Given the description of an element on the screen output the (x, y) to click on. 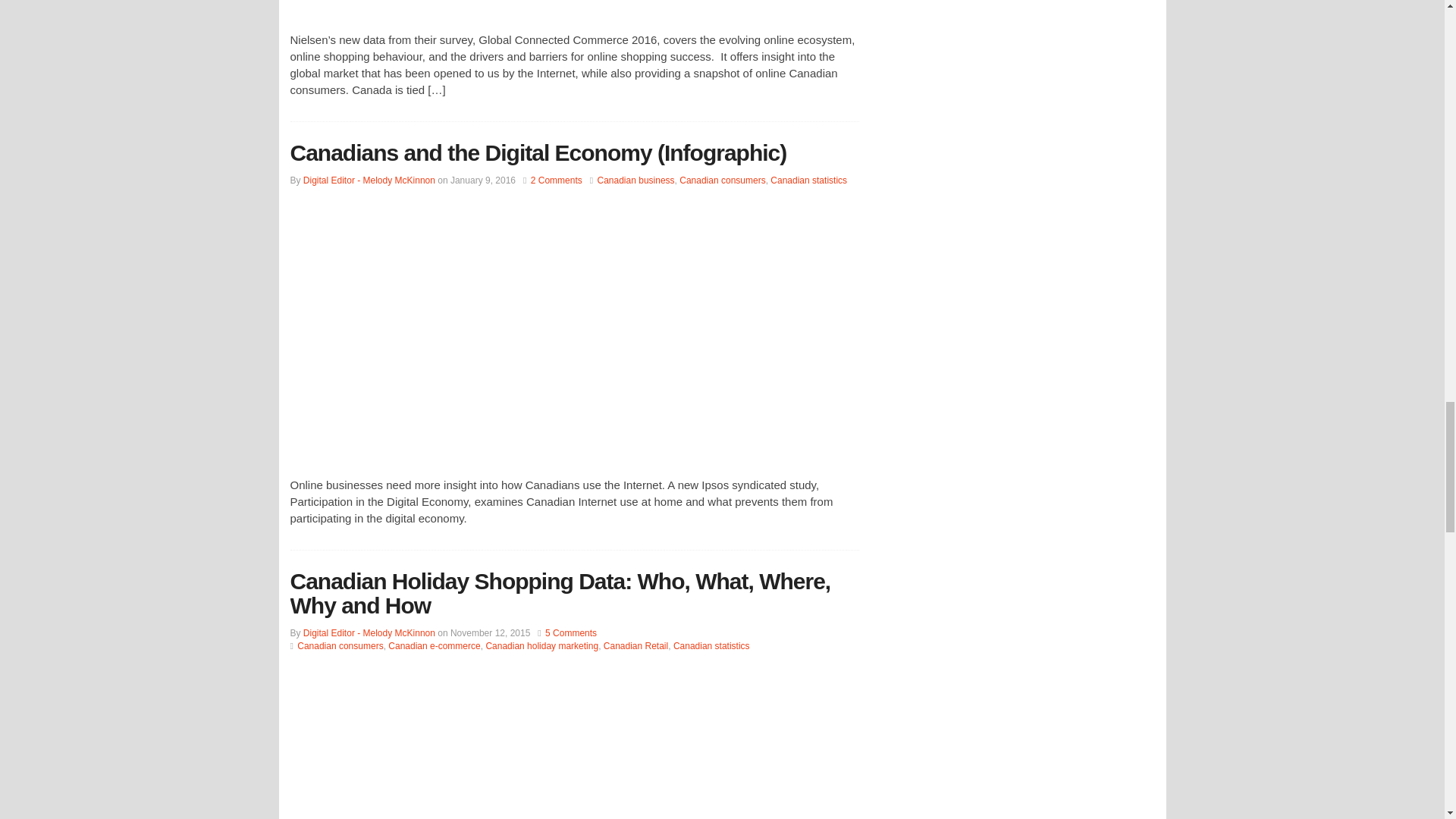
Canada in the World View of eCommerce (574, 8)
